Given the description of an element on the screen output the (x, y) to click on. 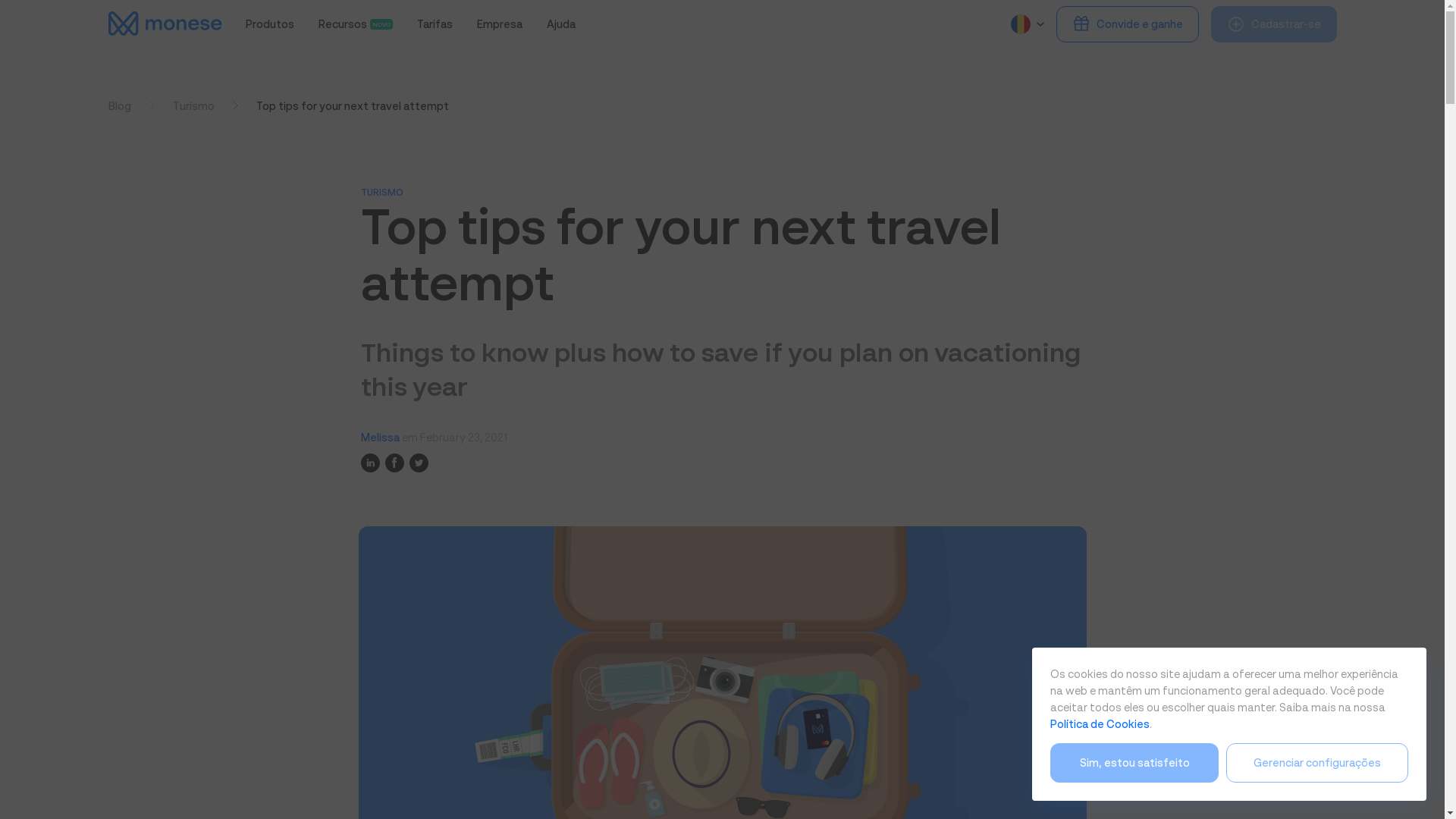
Sim, estou satisfeito (1133, 762)
Empresa (355, 24)
Produtos (499, 24)
Tarifas (270, 24)
Ajuda (434, 24)
